Given the description of an element on the screen output the (x, y) to click on. 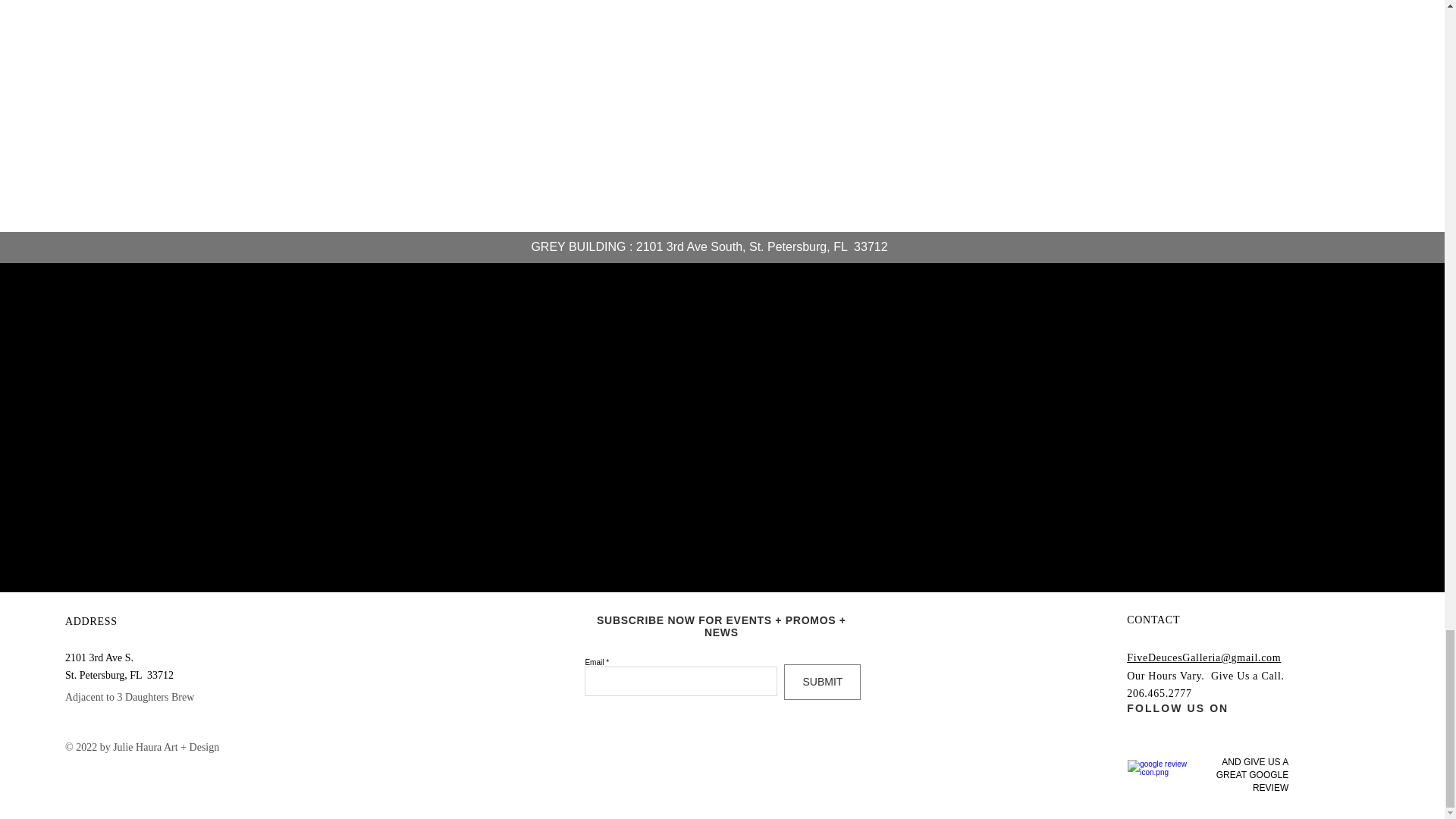
AND GIVE US A GREAT GOOGLE REVIEW (1251, 774)
SUBMIT (822, 682)
